Given the description of an element on the screen output the (x, y) to click on. 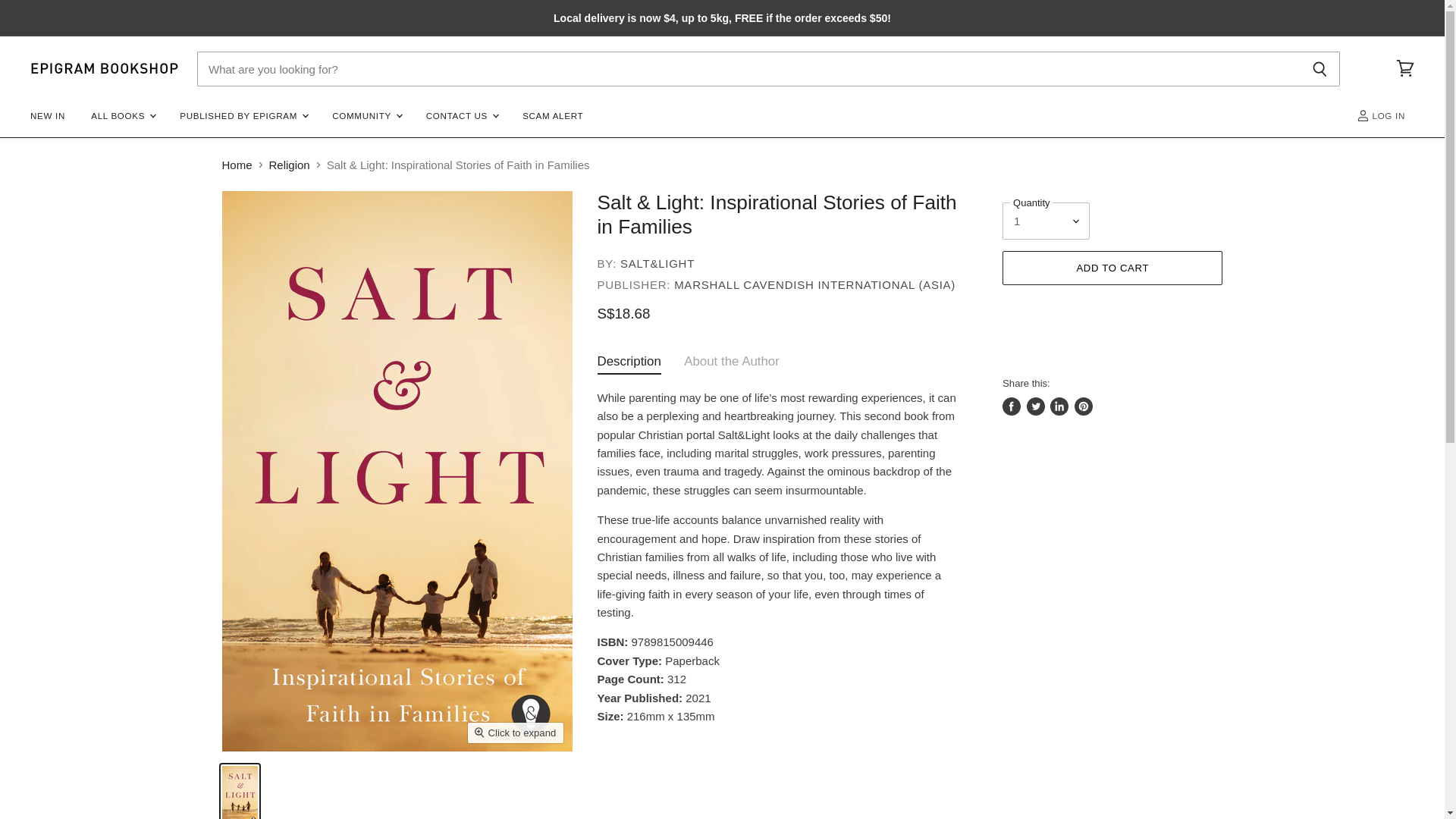
NEW IN (47, 115)
ACCOUNT ICON (1363, 115)
ALL BOOKS (122, 115)
View cart (1405, 68)
